Given the description of an element on the screen output the (x, y) to click on. 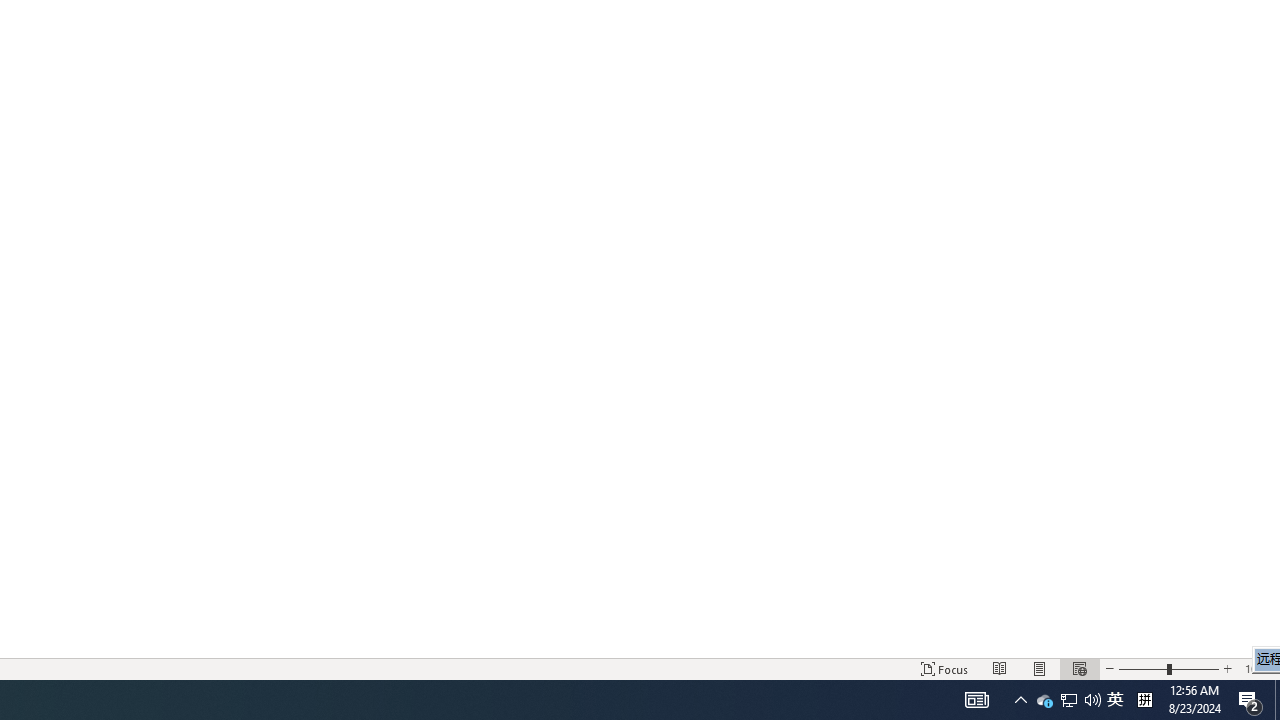
Q2790: 100% (1044, 699)
Show desktop (1115, 699)
Action Center, 2 new notifications (1092, 699)
AutomationID: 4105 (1277, 699)
User Promoted Notification Area (1069, 699)
Notification Chevron (1250, 699)
